Given the description of an element on the screen output the (x, y) to click on. 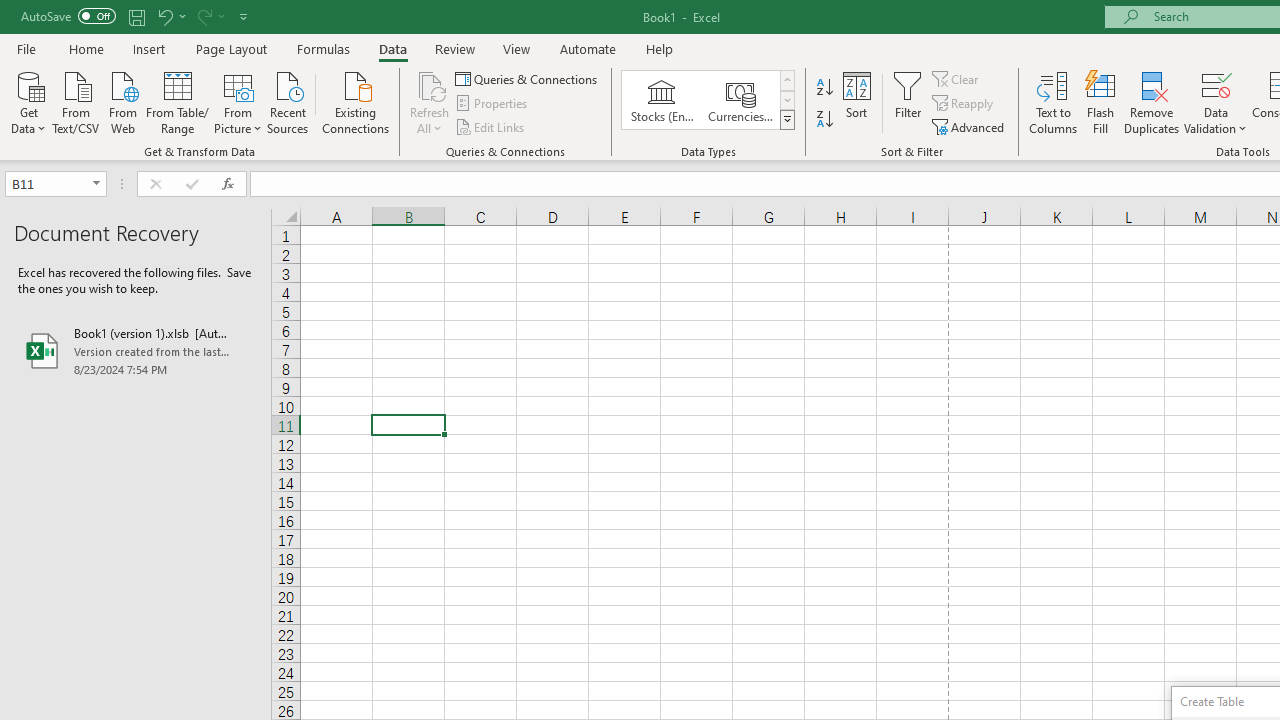
Row Down (786, 100)
Data Validation... (1215, 84)
Class: NetUIImage (787, 119)
Refresh All (429, 84)
Recent Sources (287, 101)
Existing Connections (355, 101)
Queries & Connections (527, 78)
AutoSave (68, 16)
